Given the description of an element on the screen output the (x, y) to click on. 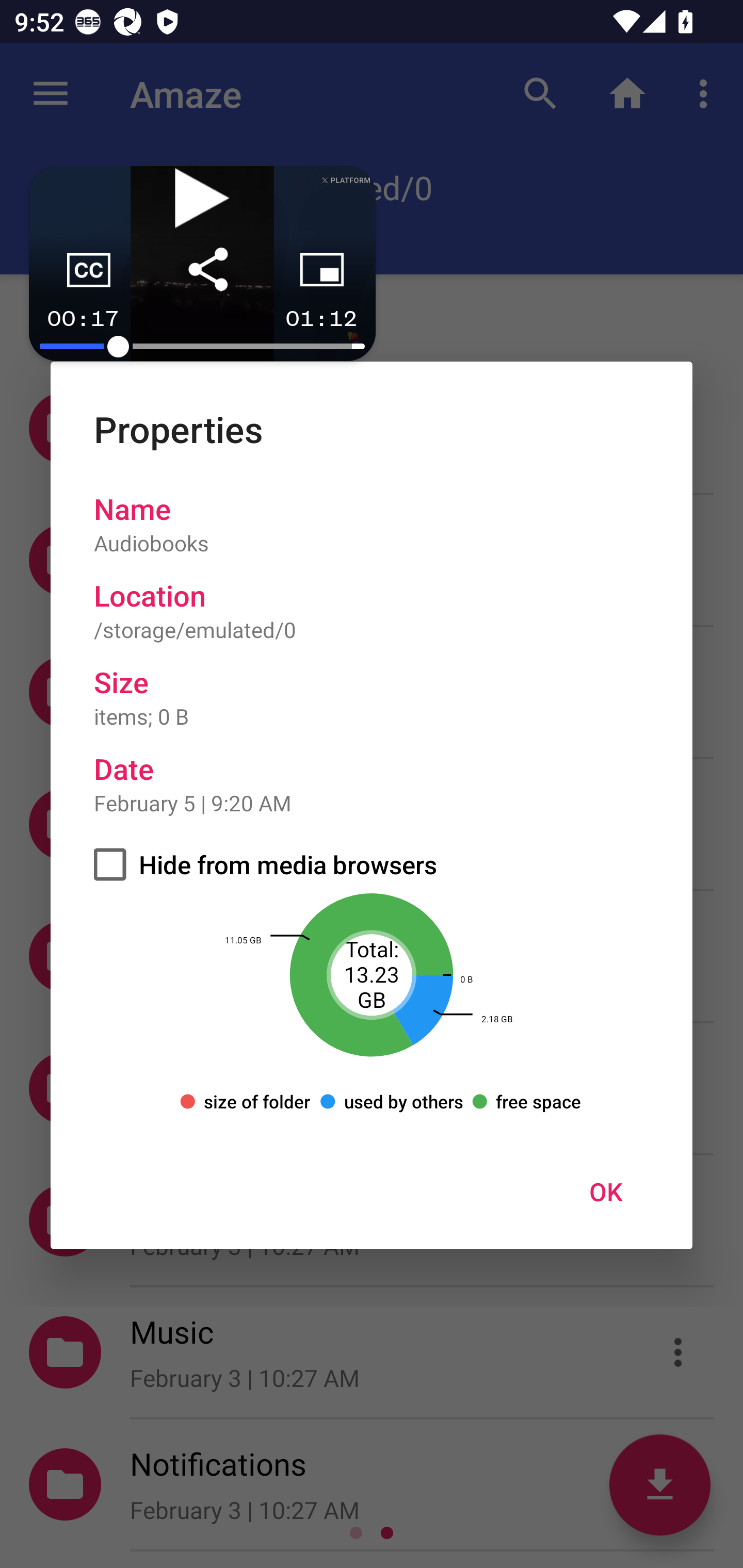
Hide from media browsers (371, 864)
OK (605, 1191)
